Given the description of an element on the screen output the (x, y) to click on. 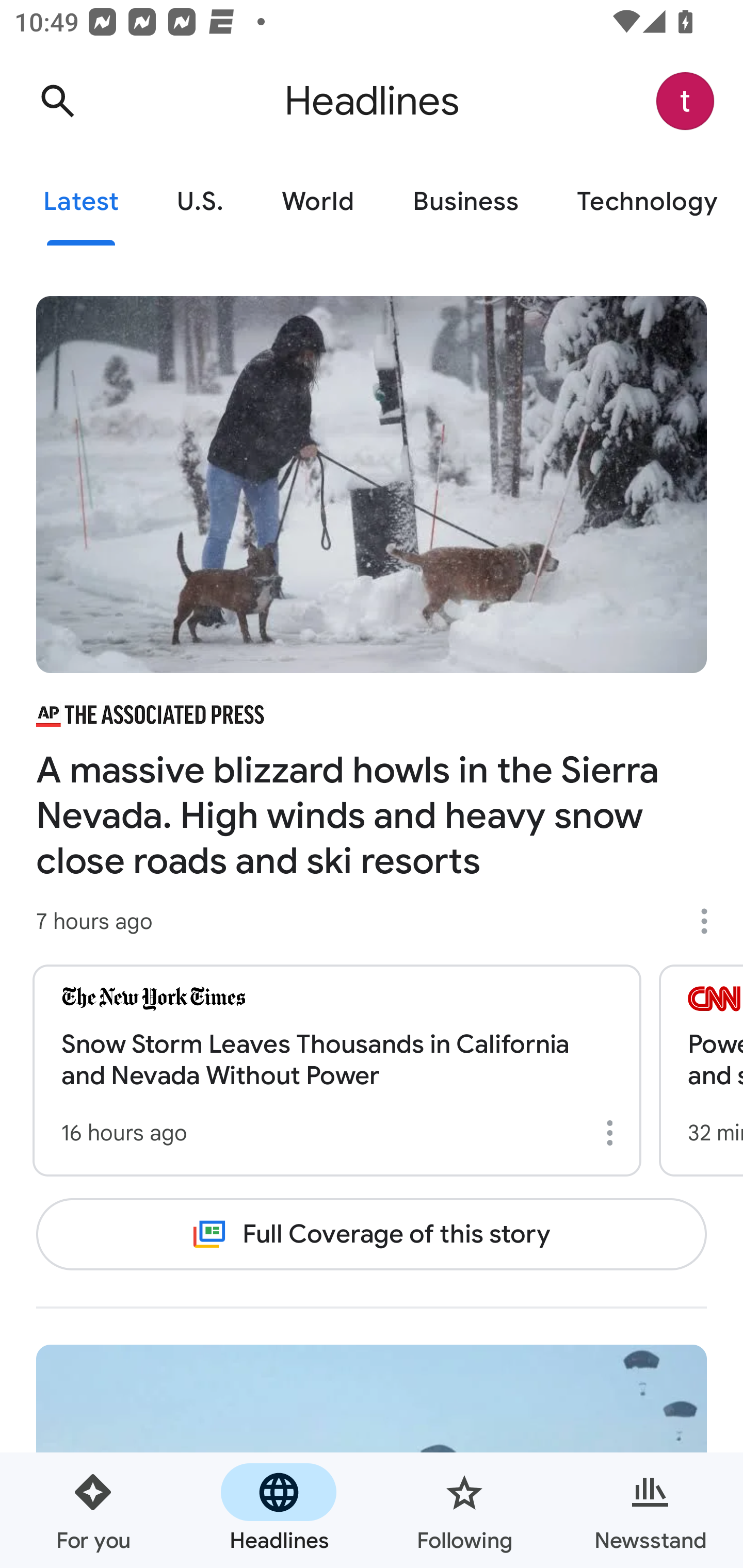
Search (57, 100)
U.S. (199, 202)
World (317, 202)
Business (465, 202)
Technology (645, 202)
More options (711, 921)
More options (613, 1132)
Full Coverage of this story (371, 1233)
For you (92, 1509)
Headlines (278, 1509)
Following (464, 1509)
Newsstand (650, 1509)
